Given the description of an element on the screen output the (x, y) to click on. 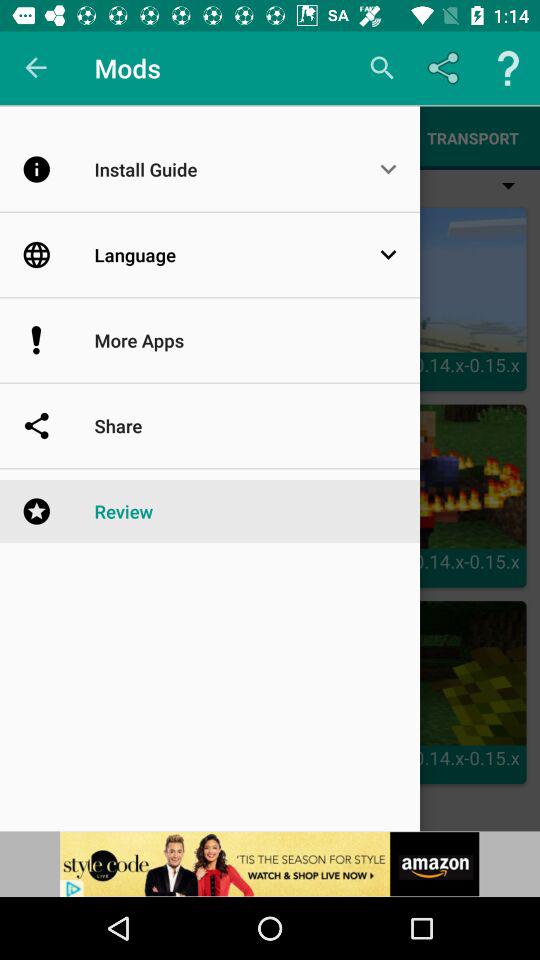
select the icon which is left to review (58, 511)
